Given the description of an element on the screen output the (x, y) to click on. 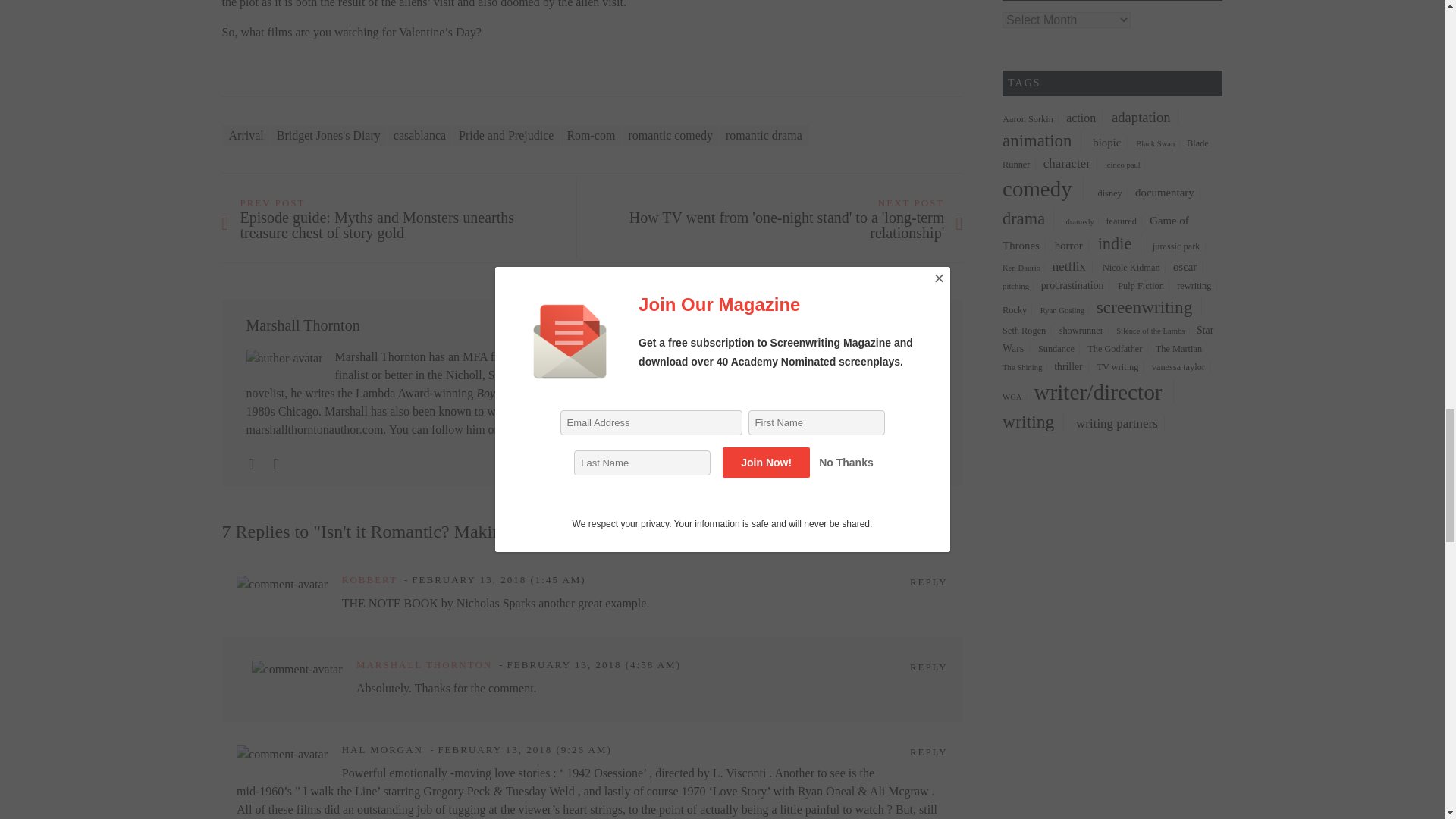
Marshall Thornton (302, 324)
casablanca (419, 135)
Bridget Jones's Diary (328, 135)
Rom-com (590, 135)
romantic comedy (670, 135)
Advertisement (1130, 775)
romantic drama (763, 135)
Arrival (245, 135)
Posts by Marshall Thornton (302, 324)
Pride and Prejudice (505, 135)
marshallthorntonauthor.com (314, 429)
